Given the description of an element on the screen output the (x, y) to click on. 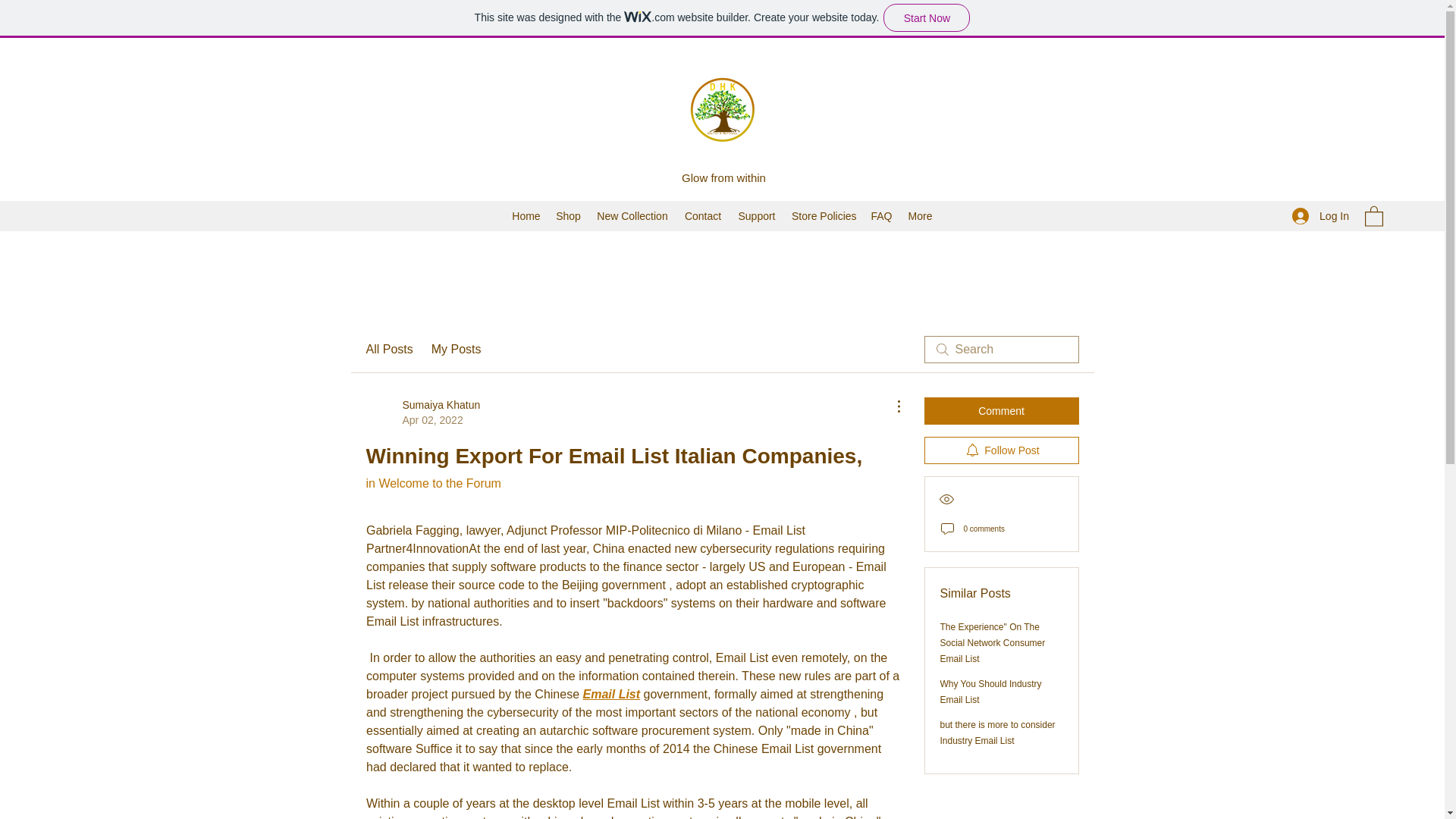
Home (525, 215)
Log In (1320, 216)
Comment (1000, 411)
Email List (611, 694)
Store Policies (823, 215)
Shop (568, 215)
All Posts (388, 349)
FAQ (881, 215)
in Welcome to the Forum (432, 482)
The Experience" On The Social Network Consumer Email List (992, 642)
